Given the description of an element on the screen output the (x, y) to click on. 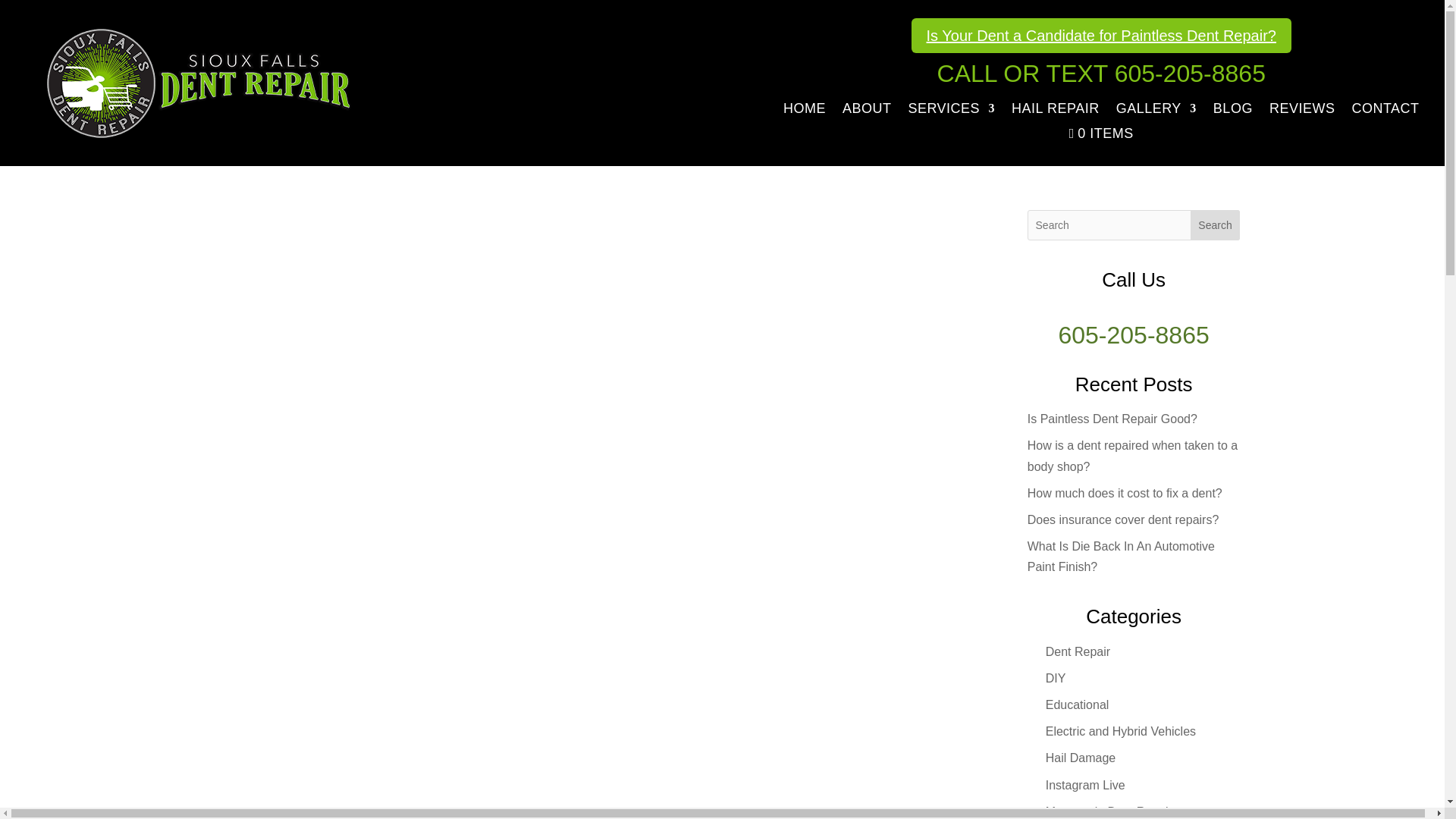
GALLERY (1156, 111)
How much does it cost to fix a dent? (1125, 492)
REVIEWS (1302, 111)
SERVICES (950, 111)
Electric and Hybrid Vehicles (1120, 730)
Instagram Live (1085, 784)
Is Paintless Dent Repair Good? (1111, 418)
Dent Repair (1077, 651)
CONTACT (1384, 111)
Is Your Dent a Candidate for Paintless Dent Repair? (1101, 35)
